Given the description of an element on the screen output the (x, y) to click on. 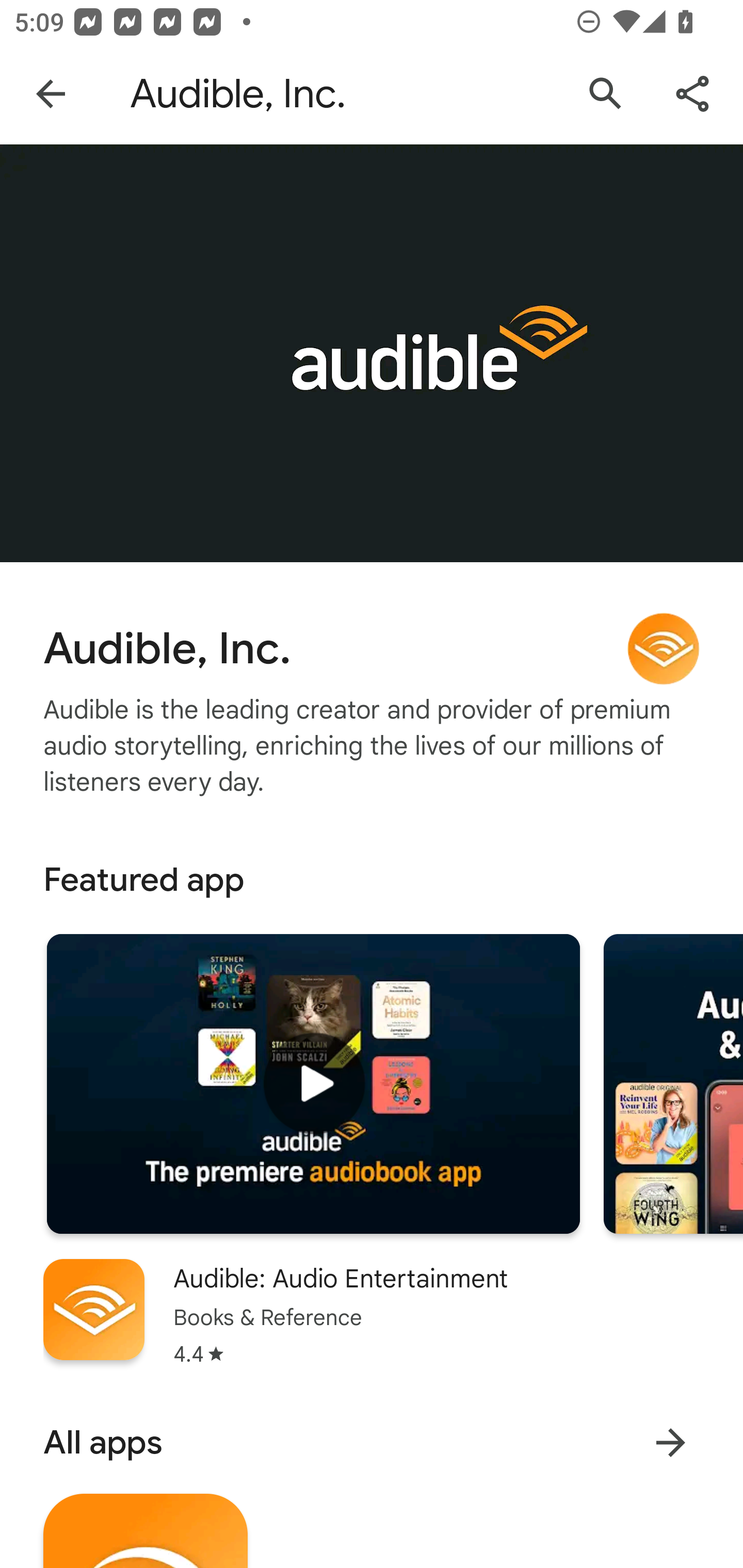
Navigate up (50, 93)
Search Google Play (605, 93)
Share (692, 93)
Play trailer for "Audible: Audio Entertainment" (313, 1084)
All apps More results for All apps (371, 1442)
More results for All apps (670, 1442)
